Given the description of an element on the screen output the (x, y) to click on. 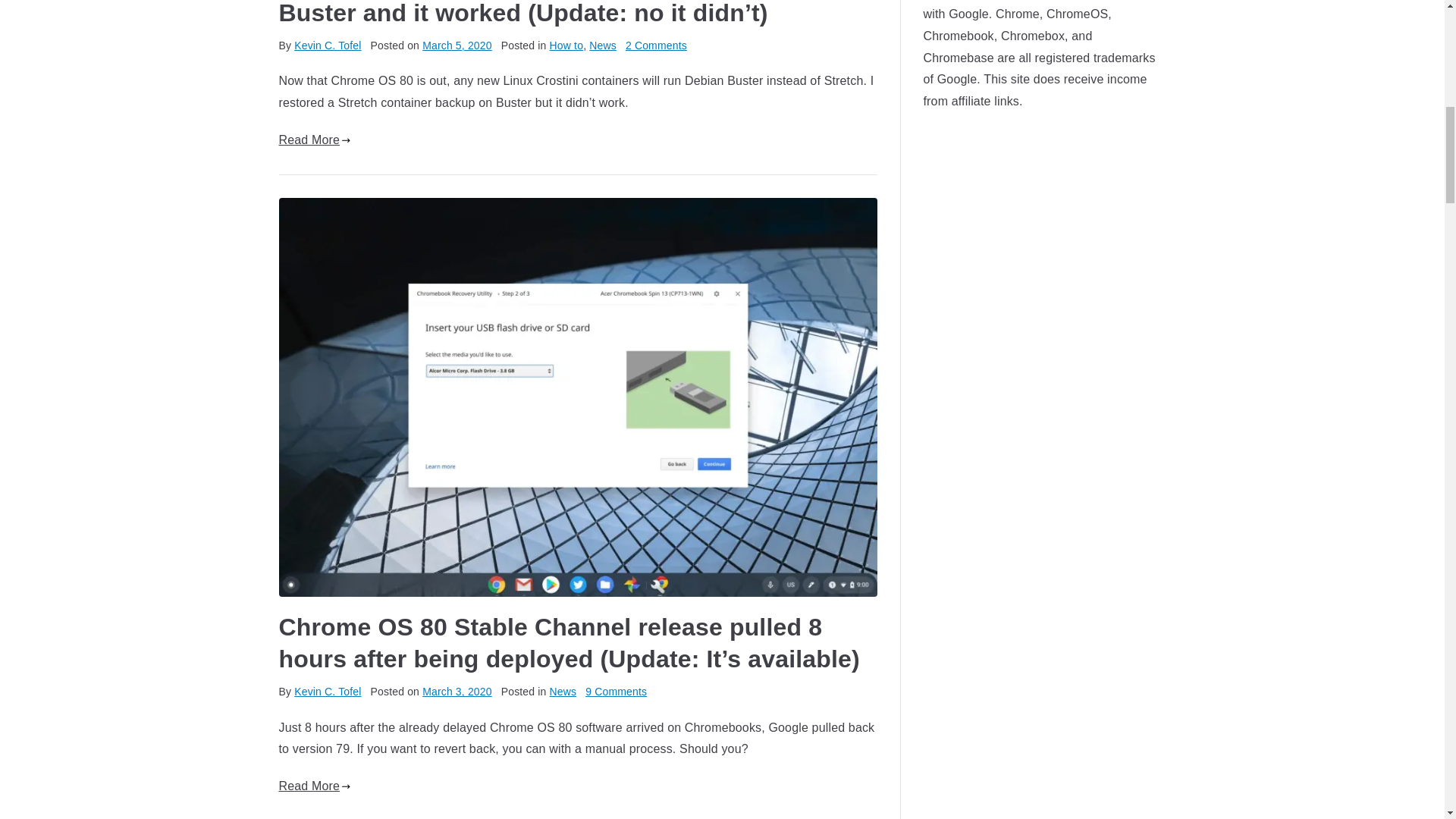
Kevin C. Tofel (327, 45)
News (563, 691)
News (602, 45)
March 3, 2020 (457, 691)
How to (566, 45)
Kevin C. Tofel (327, 691)
Read More (314, 140)
March 5, 2020 (457, 45)
